Given the description of an element on the screen output the (x, y) to click on. 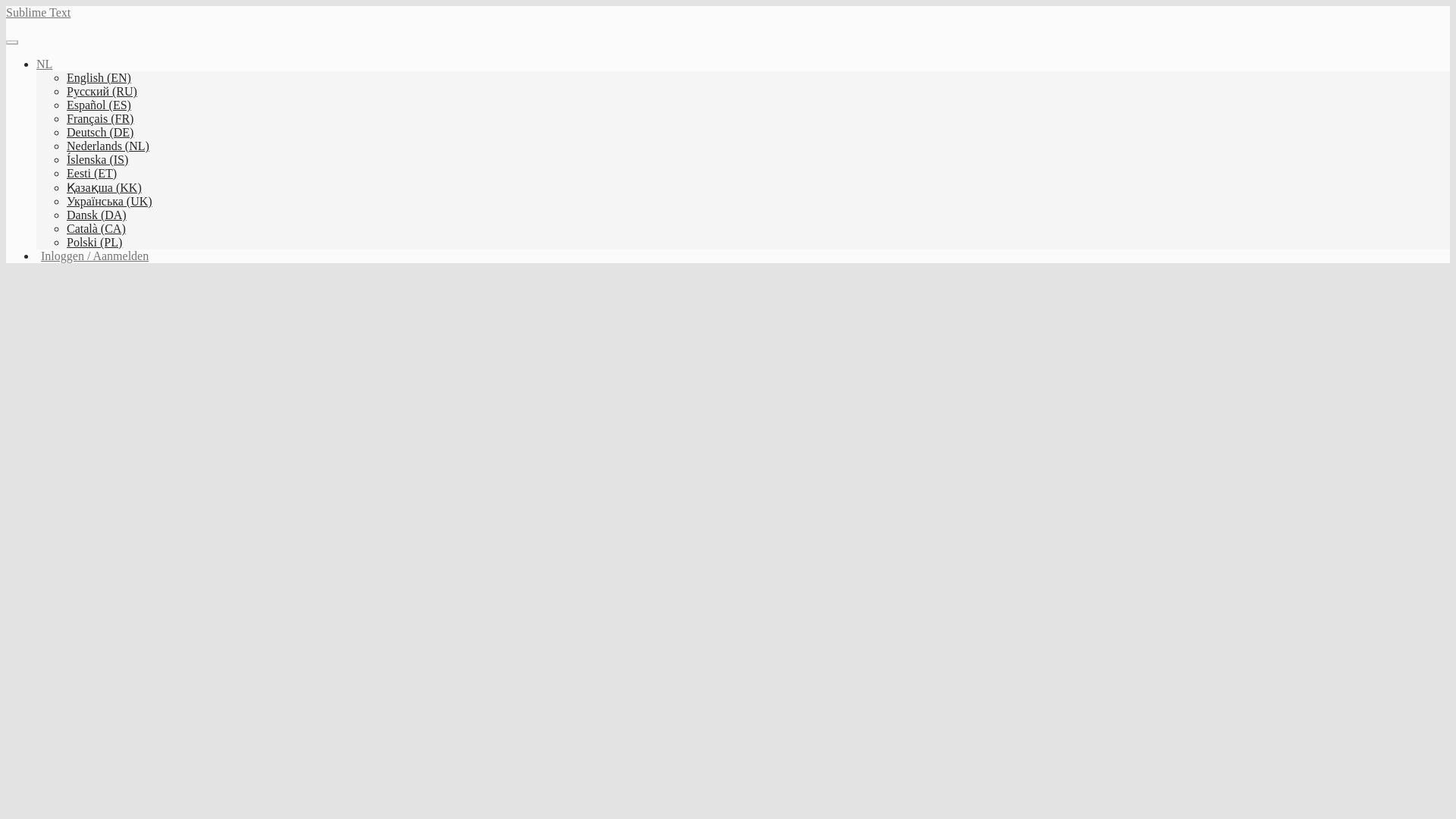
Sublime Text (37, 11)
NL (44, 63)
